Given the description of an element on the screen output the (x, y) to click on. 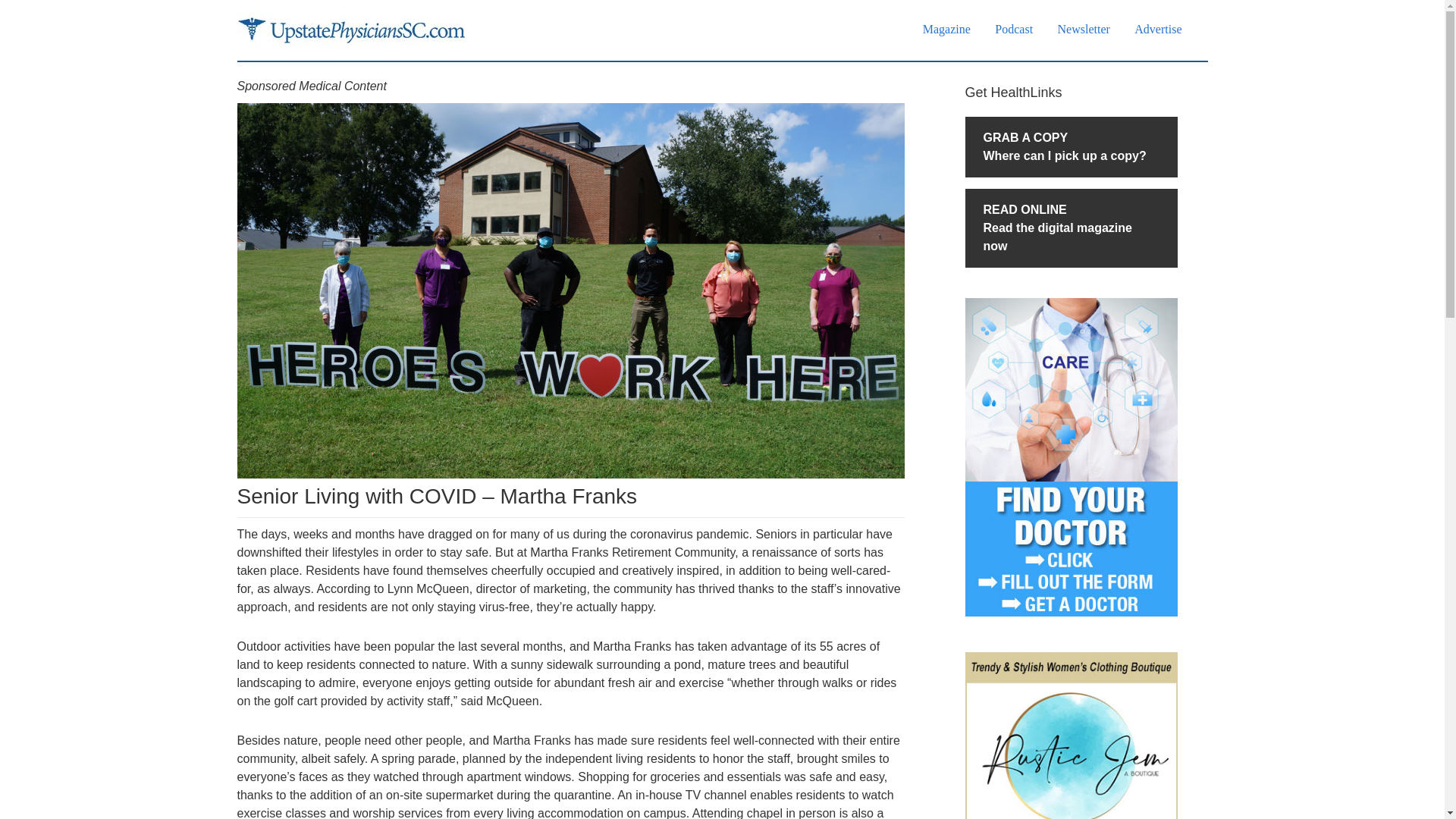
Podcast (1013, 29)
Newsletter (1083, 29)
Upstate Physicians (349, 30)
Advertise (1158, 29)
Magazine (946, 29)
